Given the description of an element on the screen output the (x, y) to click on. 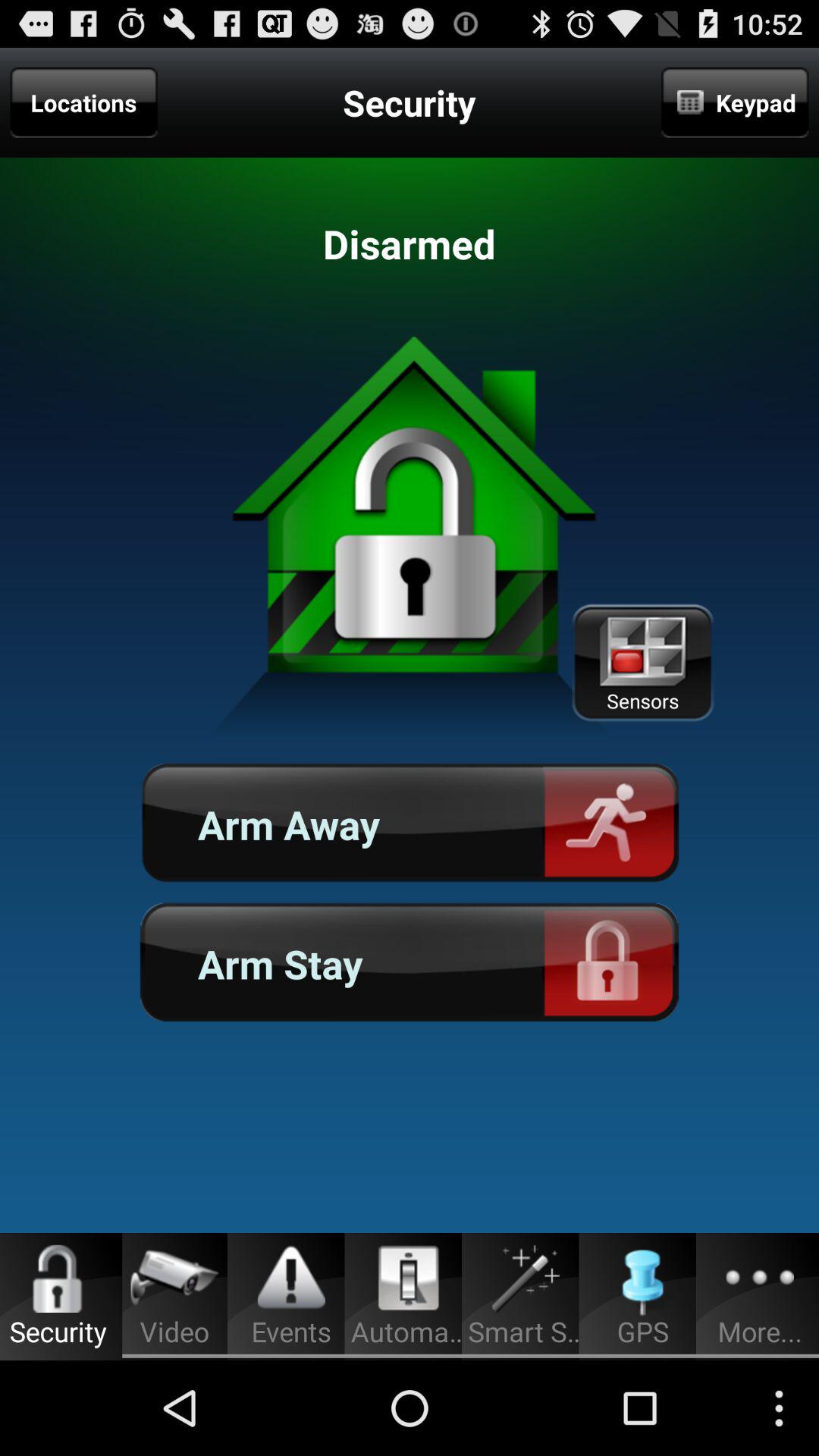
select locations item (83, 102)
